Given the description of an element on the screen output the (x, y) to click on. 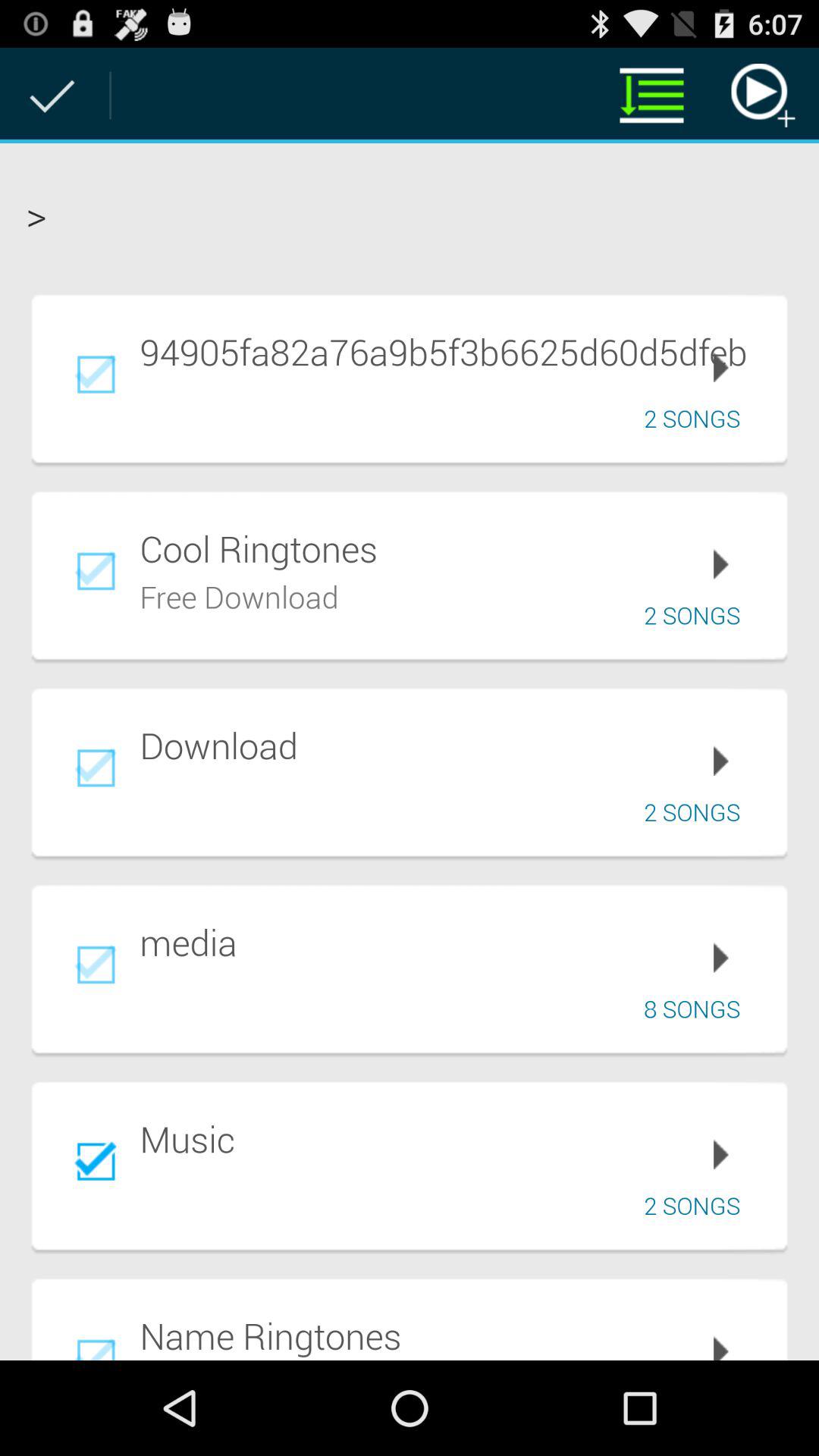
choose the app below cool ringtones item (238, 594)
